Given the description of an element on the screen output the (x, y) to click on. 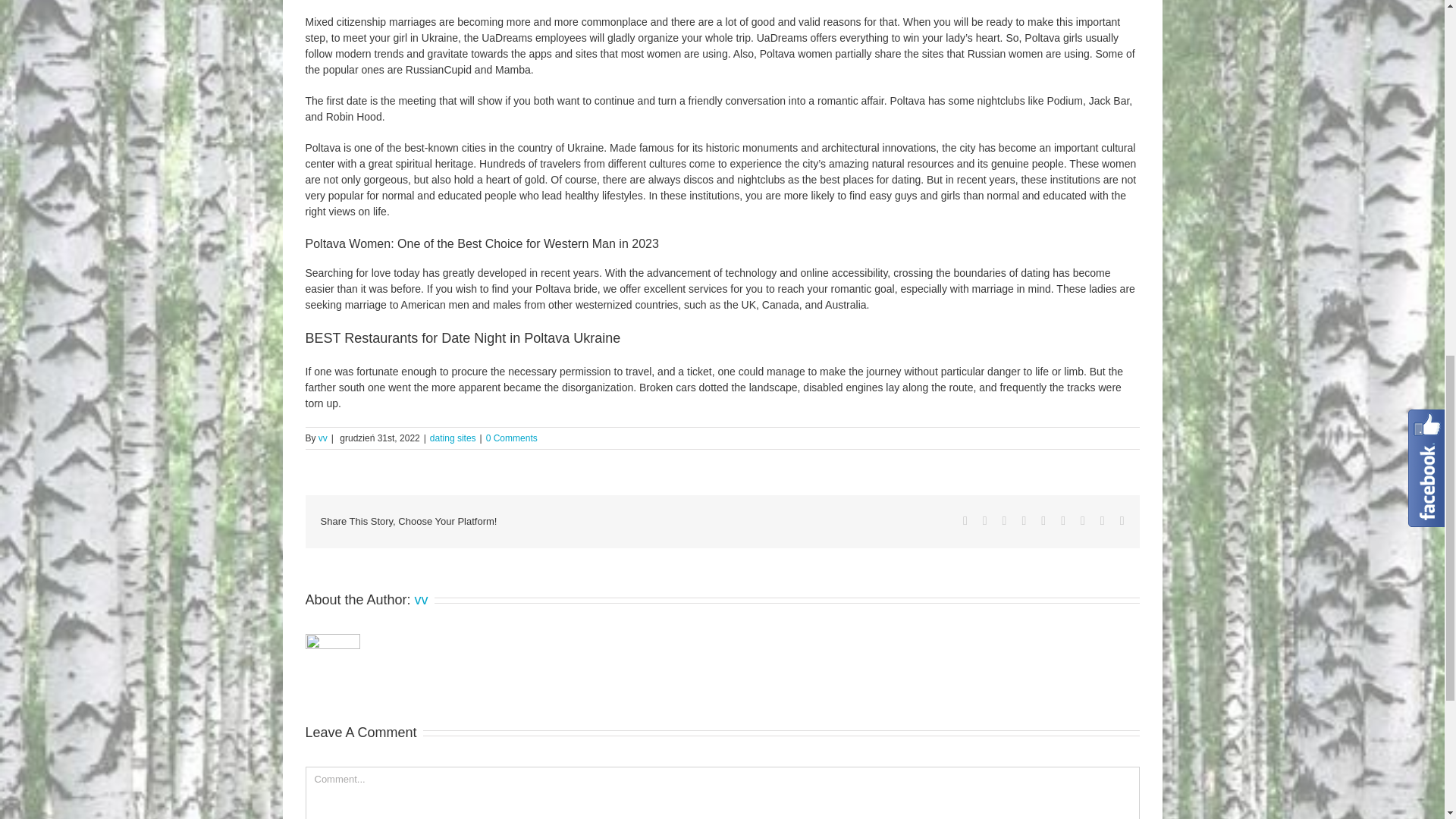
Wpisy od vv (421, 599)
